Given the description of an element on the screen output the (x, y) to click on. 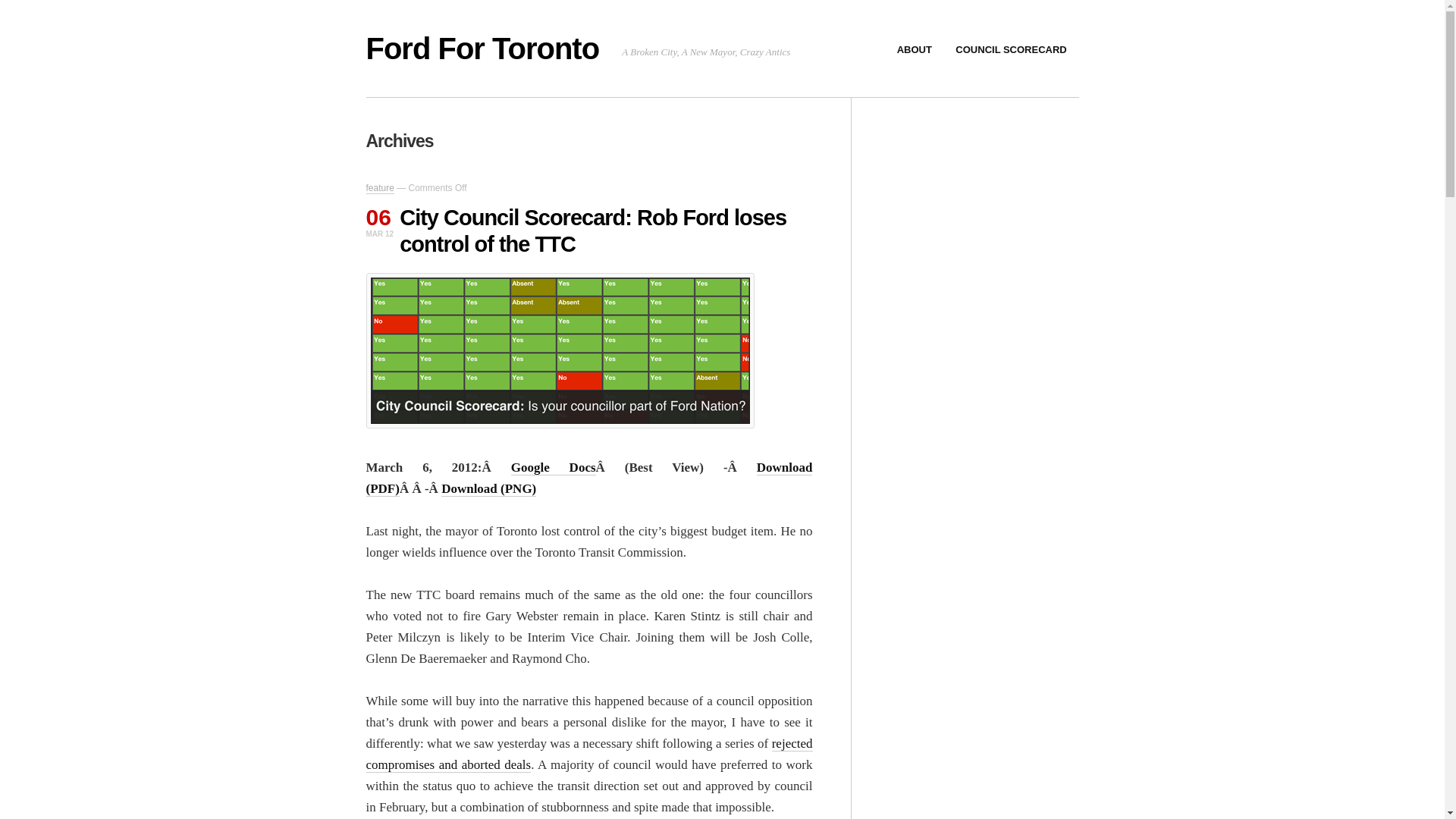
TO Council Scorecard - March 6, 2012 (488, 488)
Ford For Toronto (481, 48)
City Council Scorecard - January 17, 2012 (553, 467)
feature (379, 188)
Ford For Toronto (481, 48)
COUNCIL SCORECARD (1010, 49)
rejected compromises and aborted deals (588, 754)
Google Docs (553, 467)
Toronto Council Scorecard (559, 350)
City Council Scorecard: Rob Ford loses control of the TTC (592, 230)
TO Council Scorecard - March 6, 2012 (588, 478)
ABOUT (914, 49)
